Given the description of an element on the screen output the (x, y) to click on. 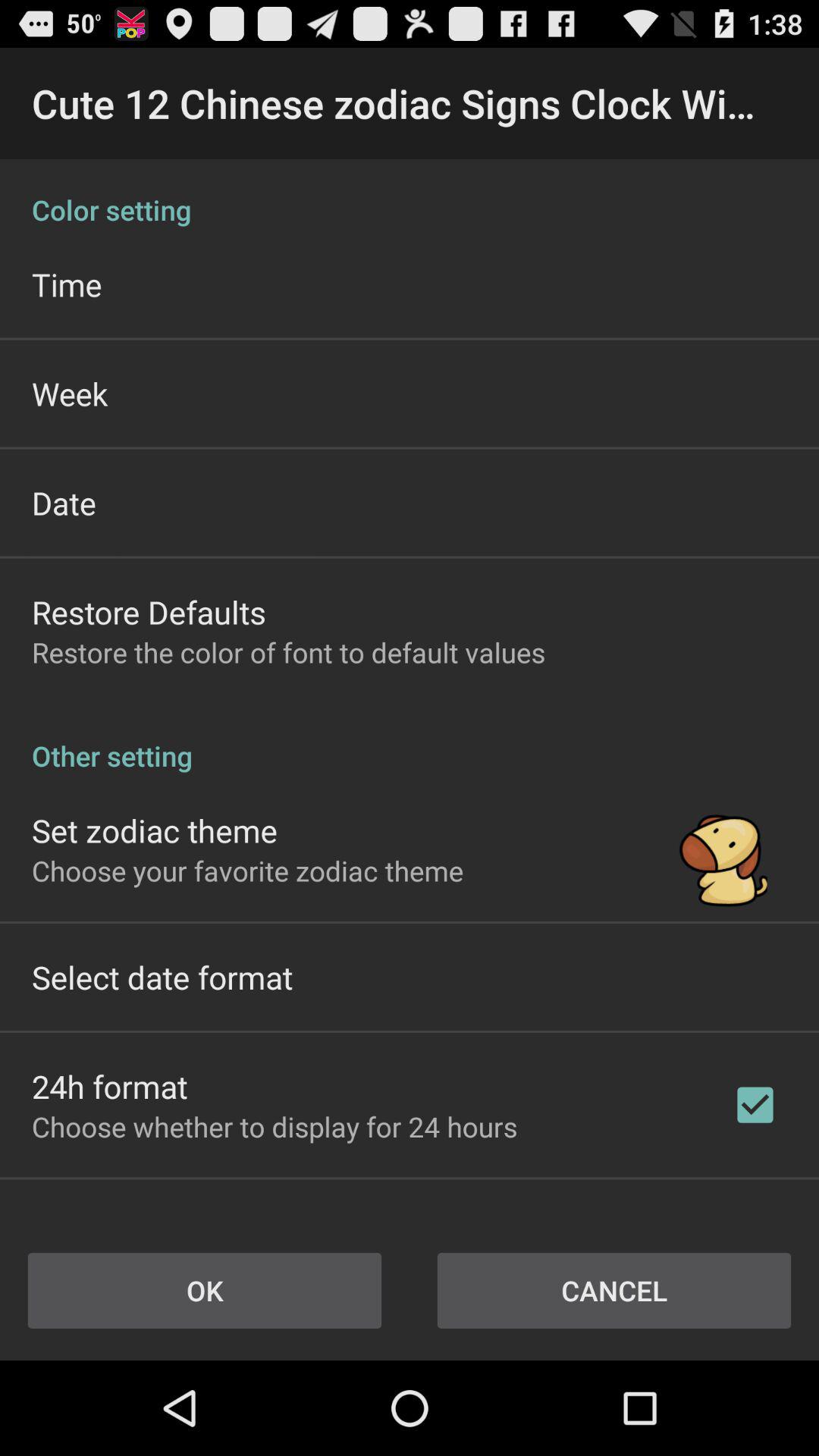
select icon above other setting (288, 652)
